Given the description of an element on the screen output the (x, y) to click on. 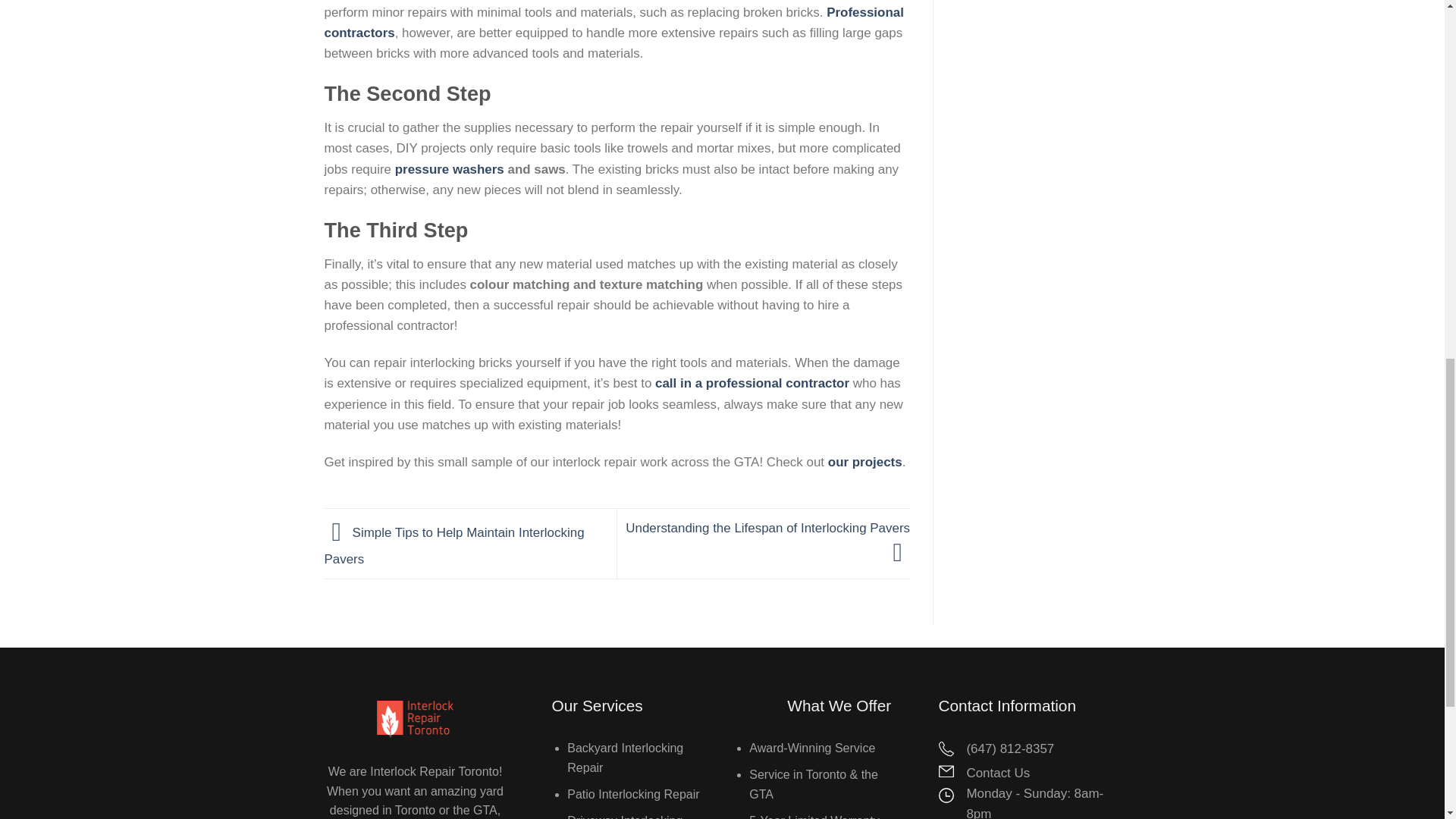
call in a professional contractor (751, 382)
Professional contractors (614, 22)
Backyard Interlocking Repair (624, 757)
Simple Tips to Help Maintain Interlocking Pavers (454, 545)
Driveway Interlocking Repair (624, 816)
our projects (865, 462)
pressure washers (448, 169)
Patio Interlocking Repair (632, 793)
Understanding the Lifespan of Interlocking Pavers (768, 540)
